Given the description of an element on the screen output the (x, y) to click on. 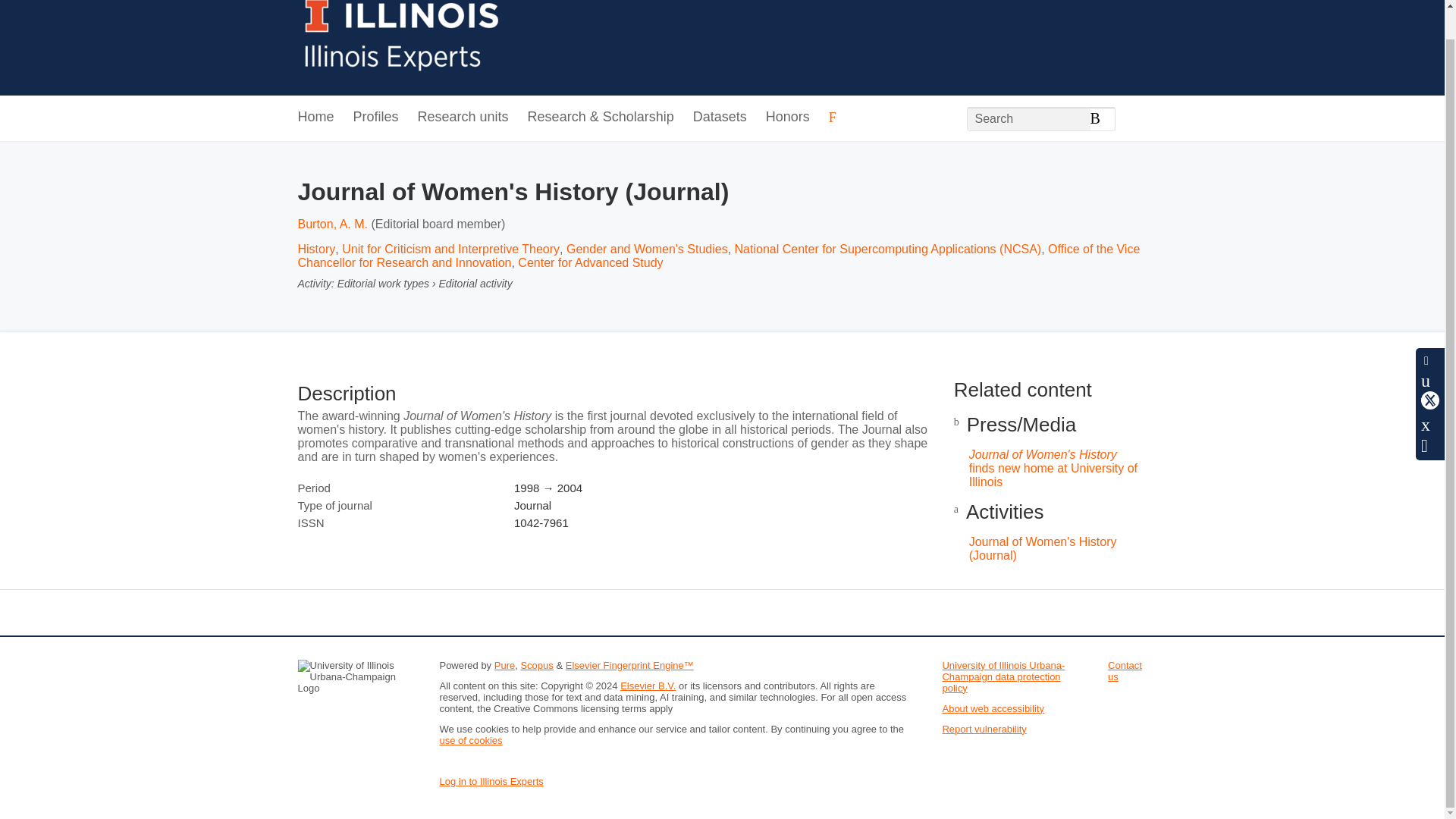
Honors (787, 117)
Research units (462, 117)
Profiles (375, 117)
University of Illinois Urbana-Champaign Home (402, 40)
History (315, 248)
Datasets (719, 117)
Gender and Women's Studies (647, 248)
Contact us (1124, 671)
Elsevier B.V. (647, 685)
use of cookies (470, 740)
